Given the description of an element on the screen output the (x, y) to click on. 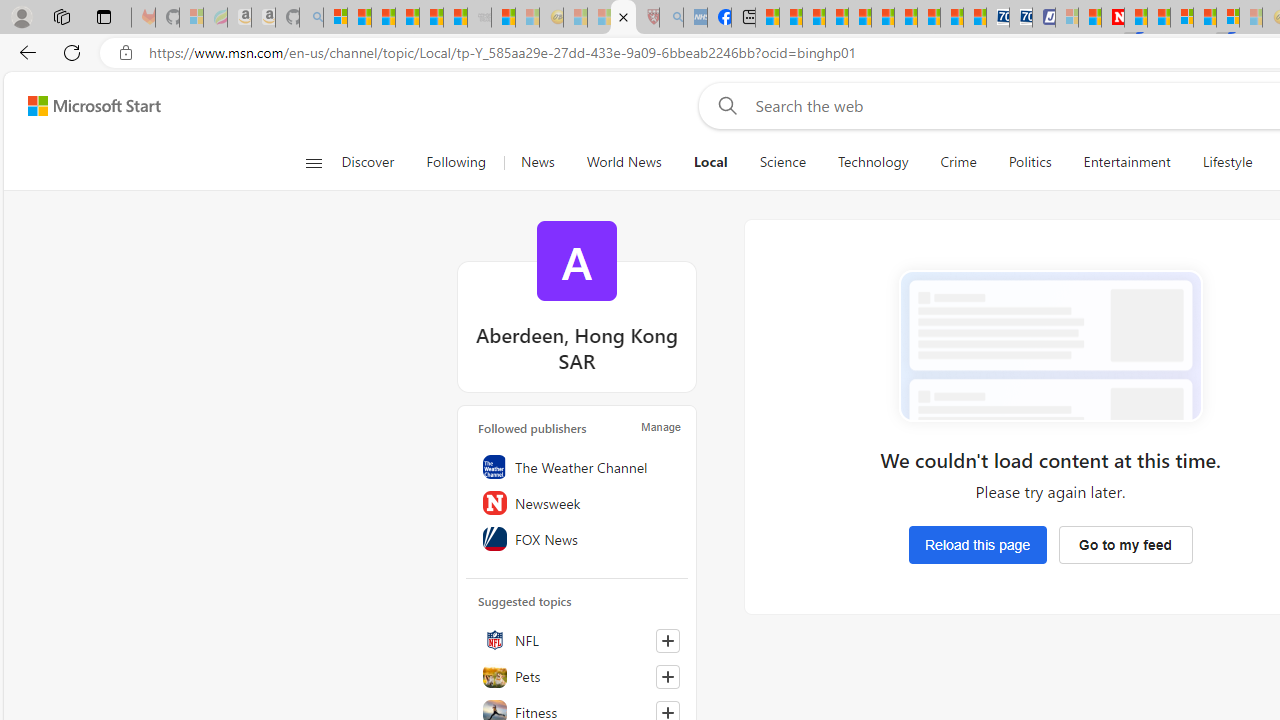
Latest Politics News & Archive | Newsweek.com (1112, 17)
Error (1050, 345)
